Given the description of an element on the screen output the (x, y) to click on. 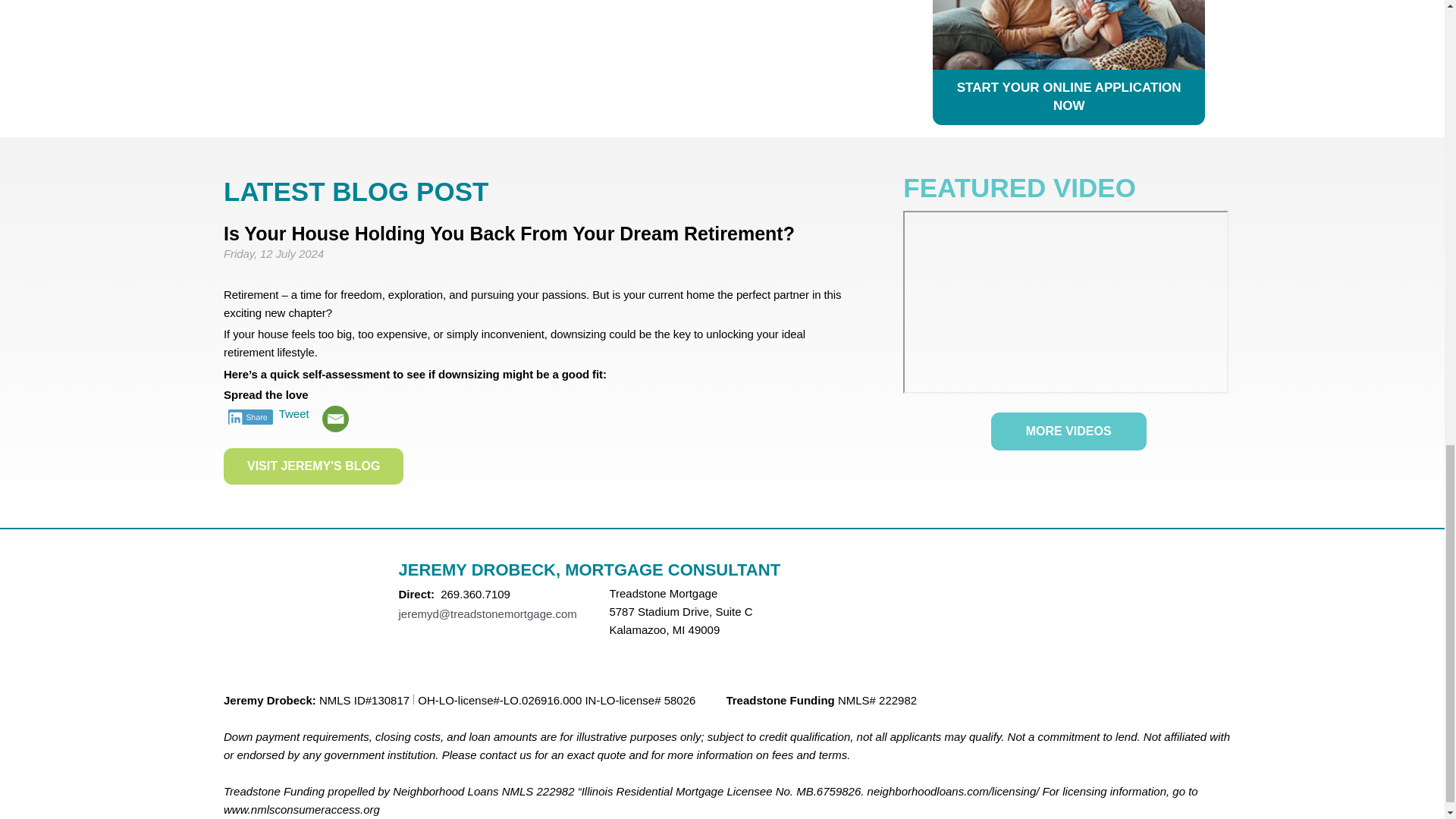
Email (335, 418)
